Given the description of an element on the screen output the (x, y) to click on. 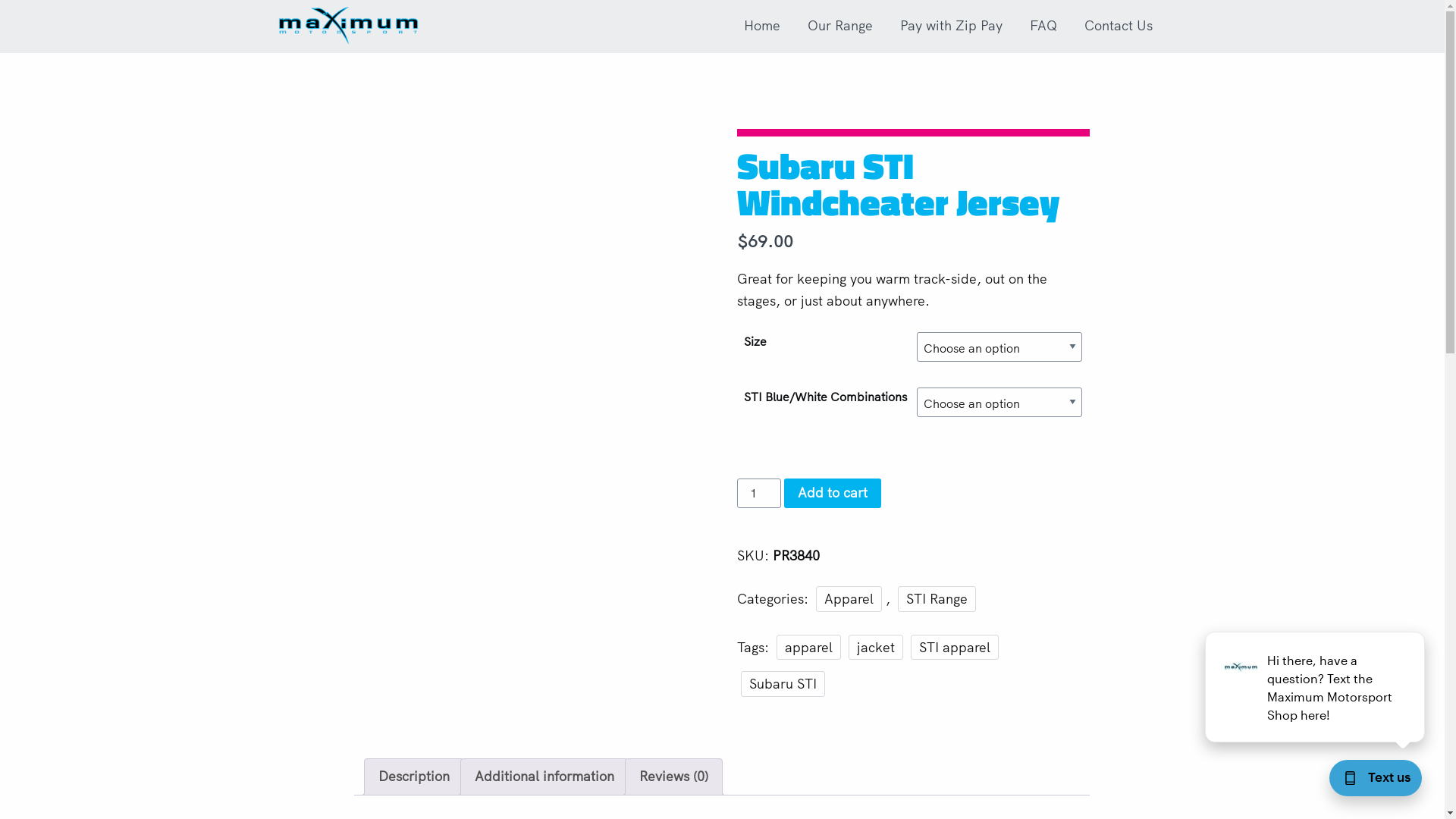
Contact Us Element type: text (1118, 25)
FAQ Element type: text (1043, 25)
Reviews (0) Element type: text (673, 776)
jacket Element type: text (875, 647)
Home Element type: text (761, 25)
Description Element type: text (413, 776)
apparel Element type: text (808, 647)
Add to cart Element type: text (832, 493)
Pay with Zip Pay Element type: text (951, 25)
Additional information Element type: text (544, 776)
STI apparel Element type: text (954, 647)
STI Range Element type: text (936, 598)
Apparel Element type: text (848, 598)
Our Range Element type: text (839, 25)
Subaru STI Element type: text (782, 683)
podium webchat widget prompt Element type: hover (1315, 686)
